Given the description of an element on the screen output the (x, y) to click on. 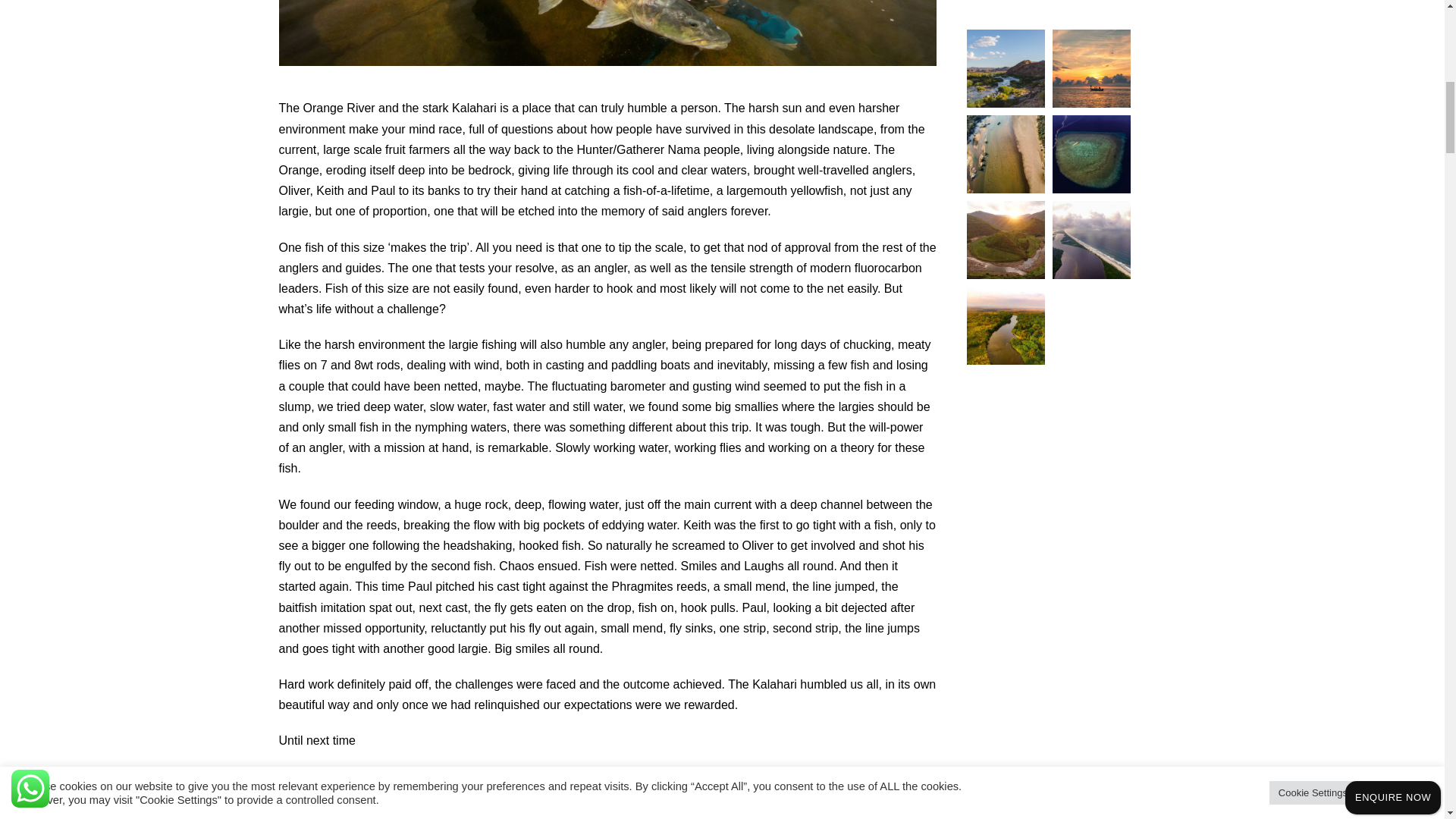
Orange River fishing, Kalahari, South Africa (1005, 68)
Fishing the Nubian flats, Red Sea, Sudan. (1091, 154)
Costa Rica tarpon fishing (1091, 68)
Makhangoa fly fishing camp in Lesotho (1005, 239)
Fishing at Gassa Camp, Cameroon, Africa. (1005, 154)
Sette coma fishing camp, Gabon (1091, 239)
Tiger fishing destination, Tanzania (1005, 325)
